Given the description of an element on the screen output the (x, y) to click on. 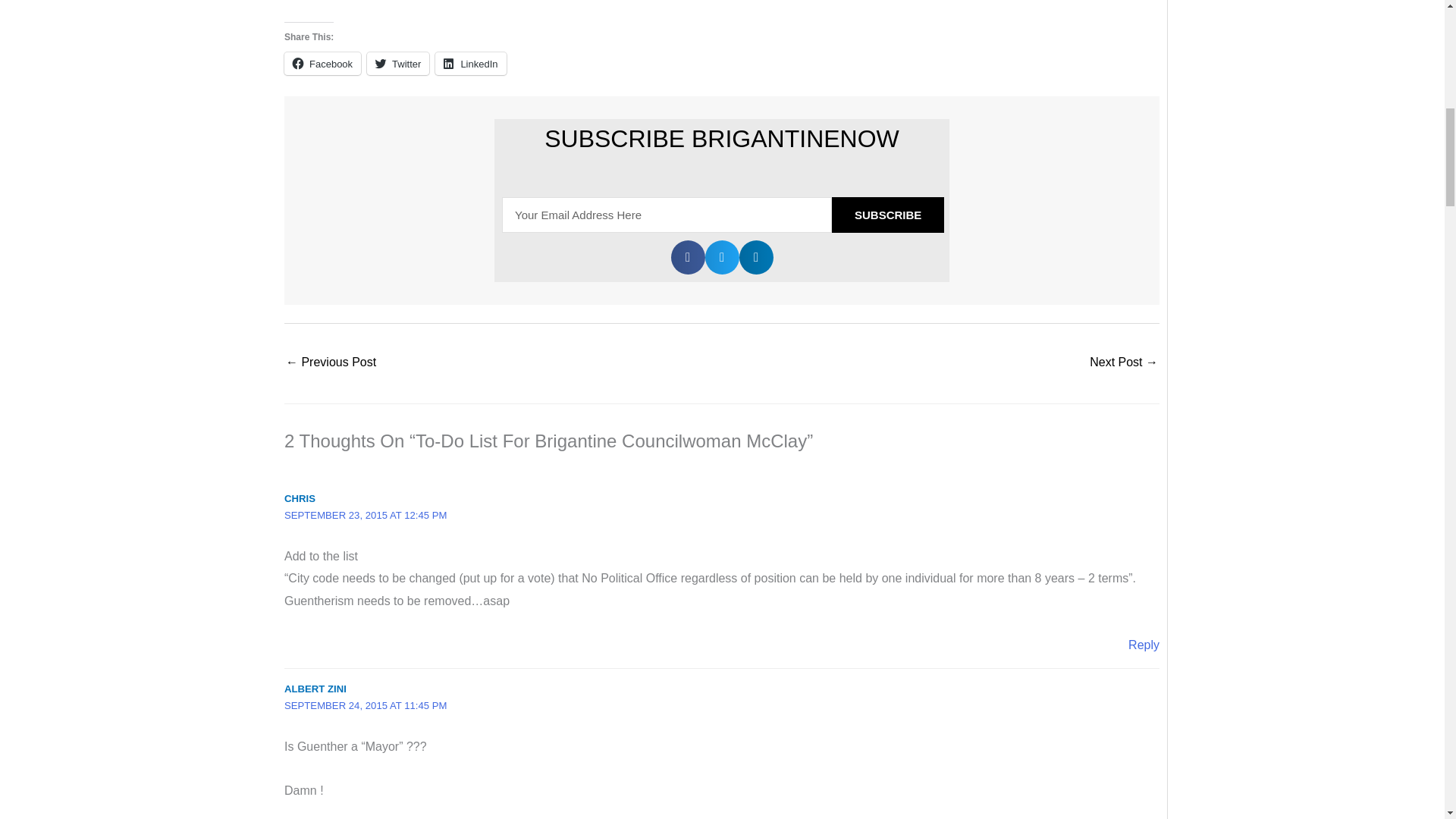
Click to share on Facebook (322, 63)
SEPTEMBER 23, 2015 AT 12:45 PM (364, 514)
Click to share on Twitter (397, 63)
SUBSCRIBE (887, 214)
SEPTEMBER 24, 2015 AT 11:45 PM (364, 705)
Click to share on LinkedIn (470, 63)
Twitter (397, 63)
LinkedIn (470, 63)
Reply (1143, 644)
Facebook (322, 63)
